Given the description of an element on the screen output the (x, y) to click on. 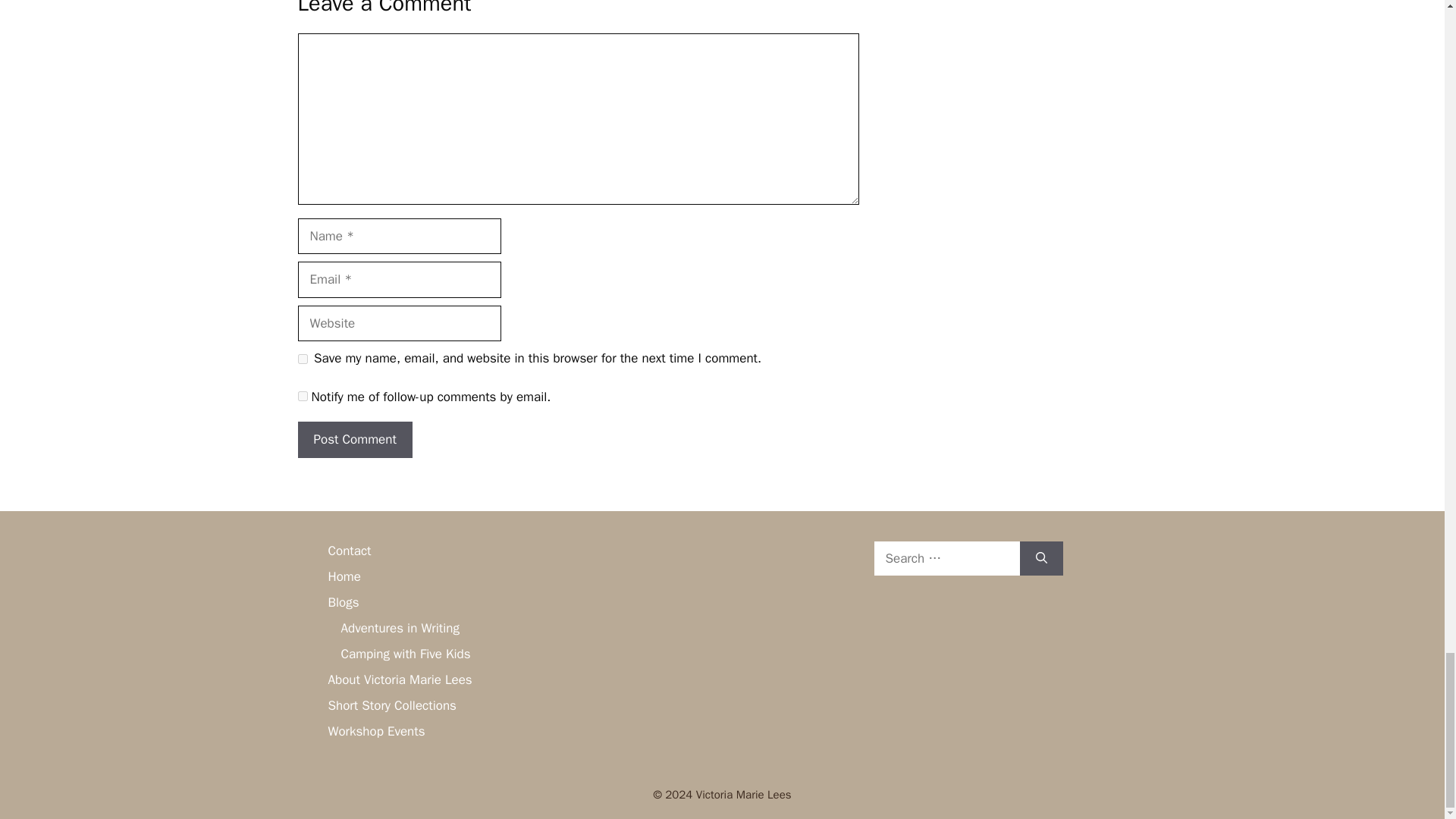
yes (302, 358)
subscribe (302, 396)
Search for: (946, 558)
Post Comment (354, 439)
